Given the description of an element on the screen output the (x, y) to click on. 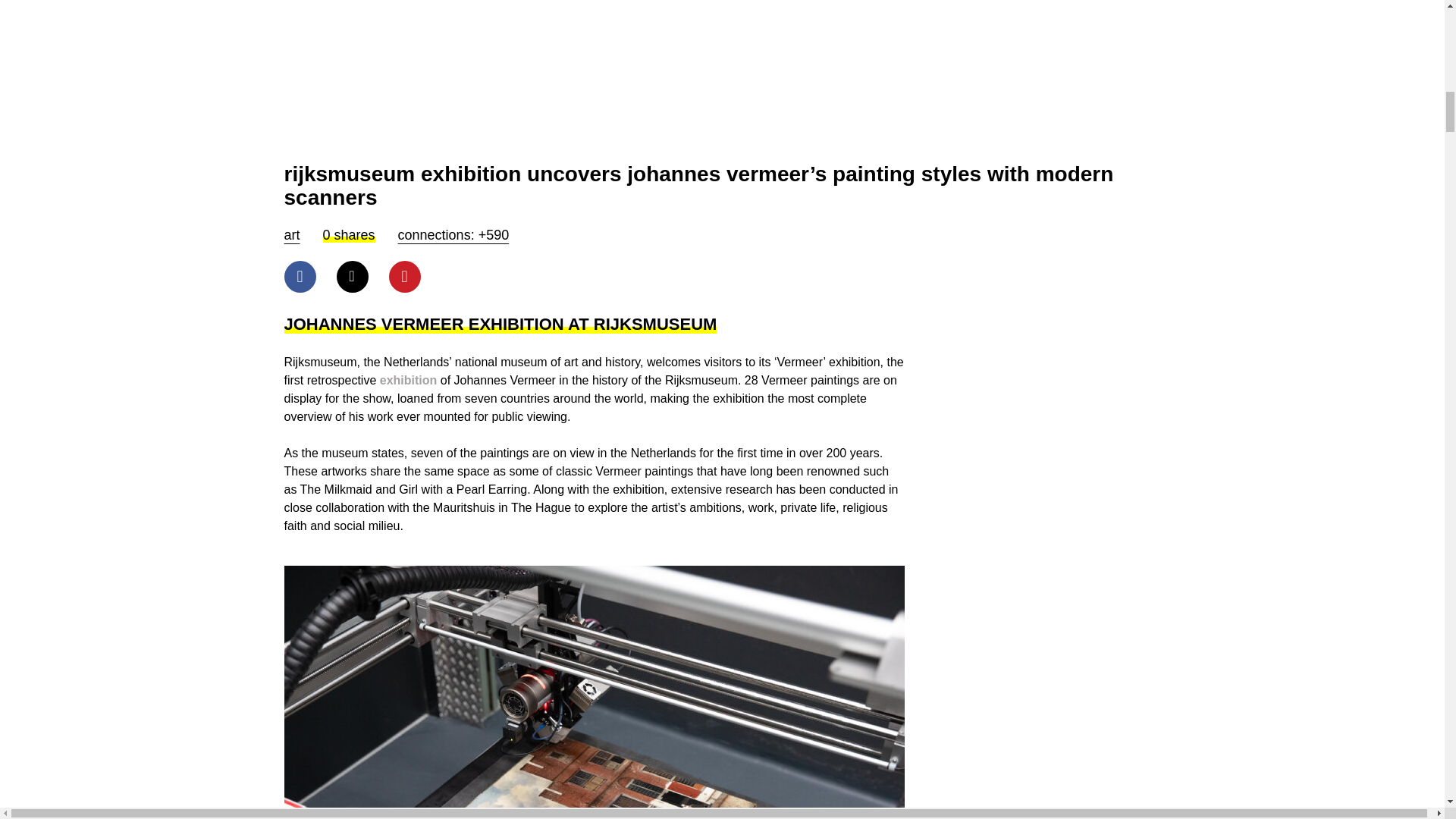
art (291, 235)
